Given the description of an element on the screen output the (x, y) to click on. 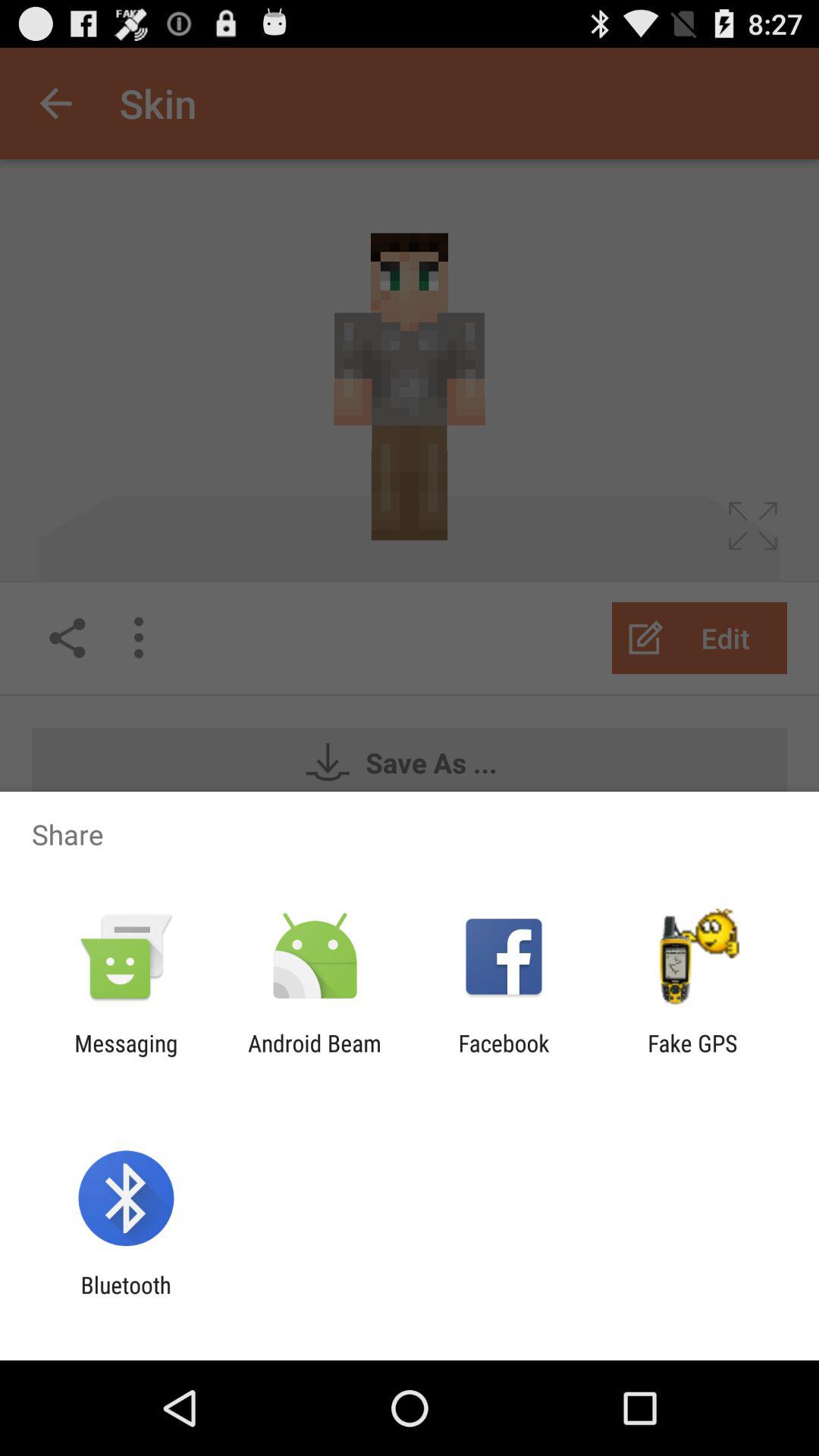
launch the messaging app (126, 1056)
